Given the description of an element on the screen output the (x, y) to click on. 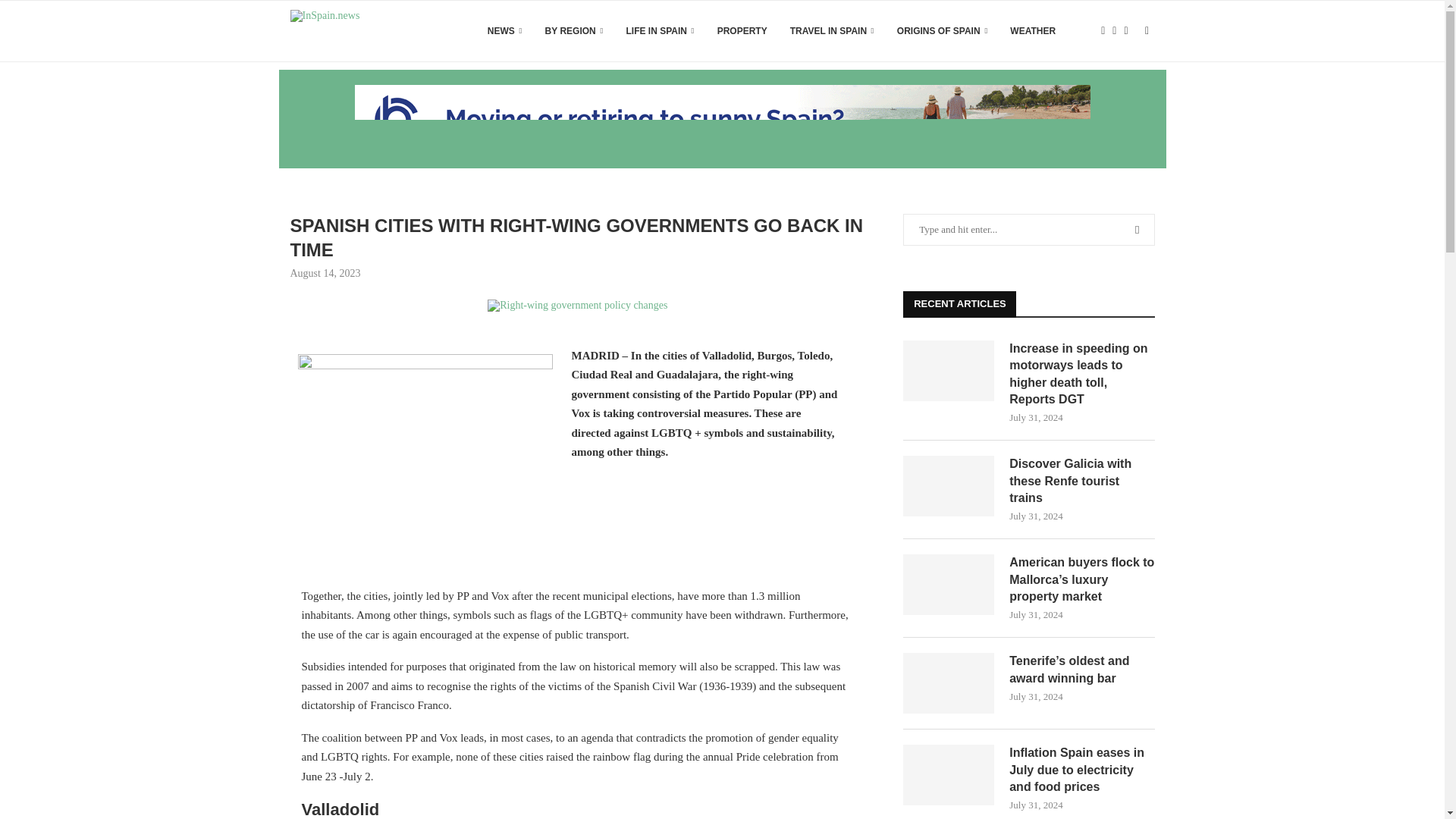
BIKE LANE (576, 305)
ORIGINS OF SPAIN (942, 30)
Discover Galicia with these Renfe tourist trains (1081, 480)
Discover Galicia with these Renfe tourist trains (948, 485)
TRAVEL IN SPAIN (832, 30)
BY REGION (574, 30)
LIFE IN SPAIN (660, 30)
